Given the description of an element on the screen output the (x, y) to click on. 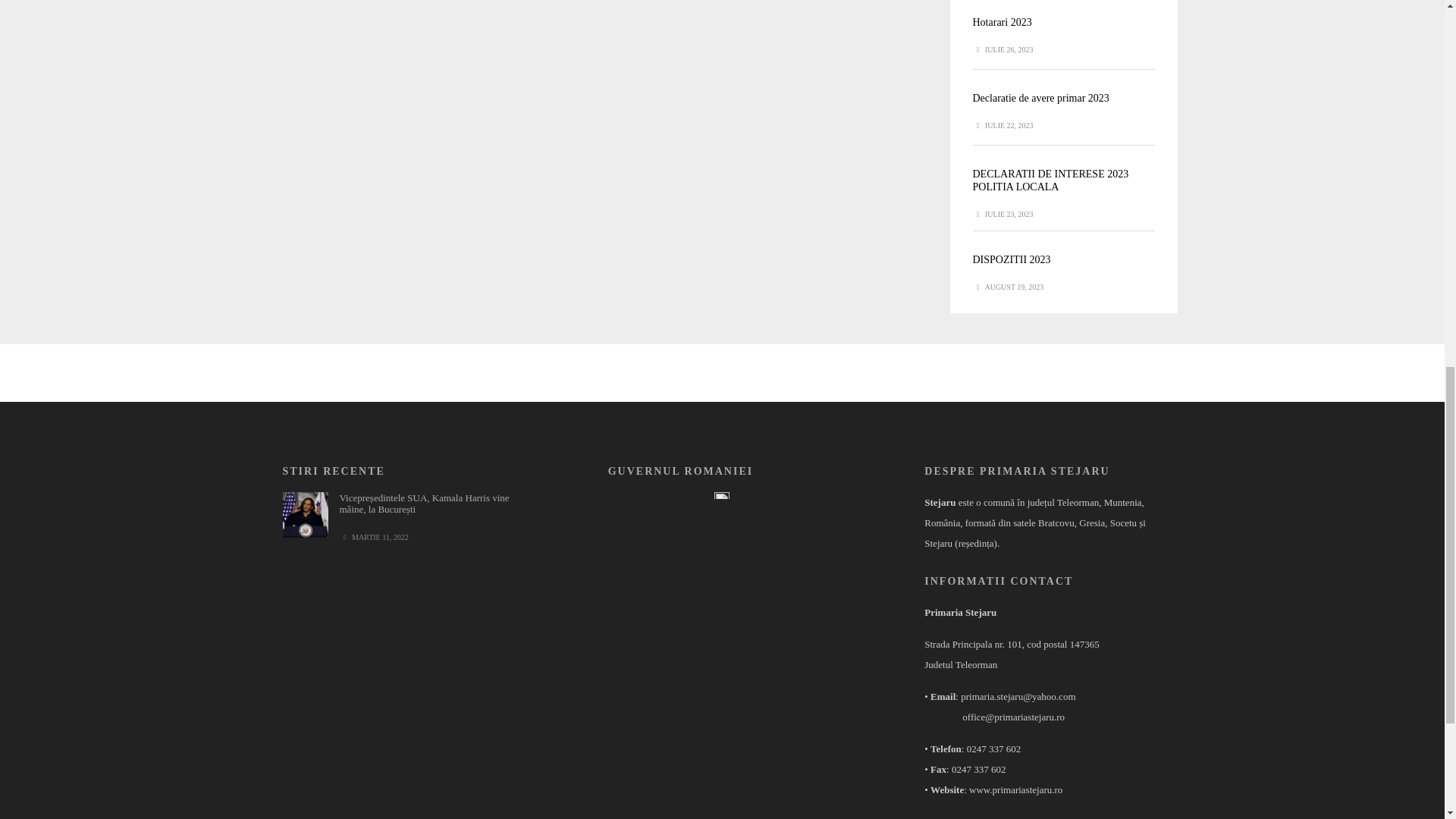
Hotarari 2023 (1001, 21)
Declaratie de avere primar 2023 (1040, 98)
DISPOZITII 2023 (1010, 259)
DECLARATII DE INTERESE 2023 POLITIA LOCALA (1050, 180)
